Given the description of an element on the screen output the (x, y) to click on. 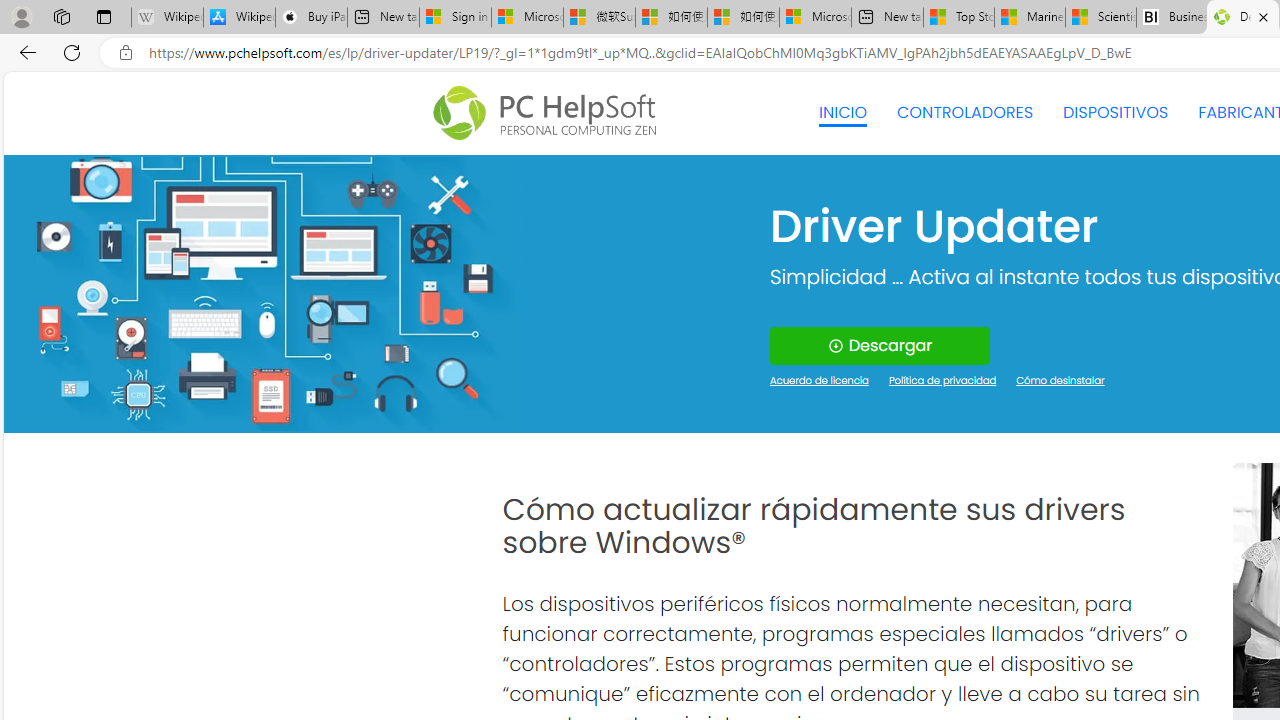
Download Icon Descargar (879, 345)
Marine life - MSN (1029, 17)
